Given the description of an element on the screen output the (x, y) to click on. 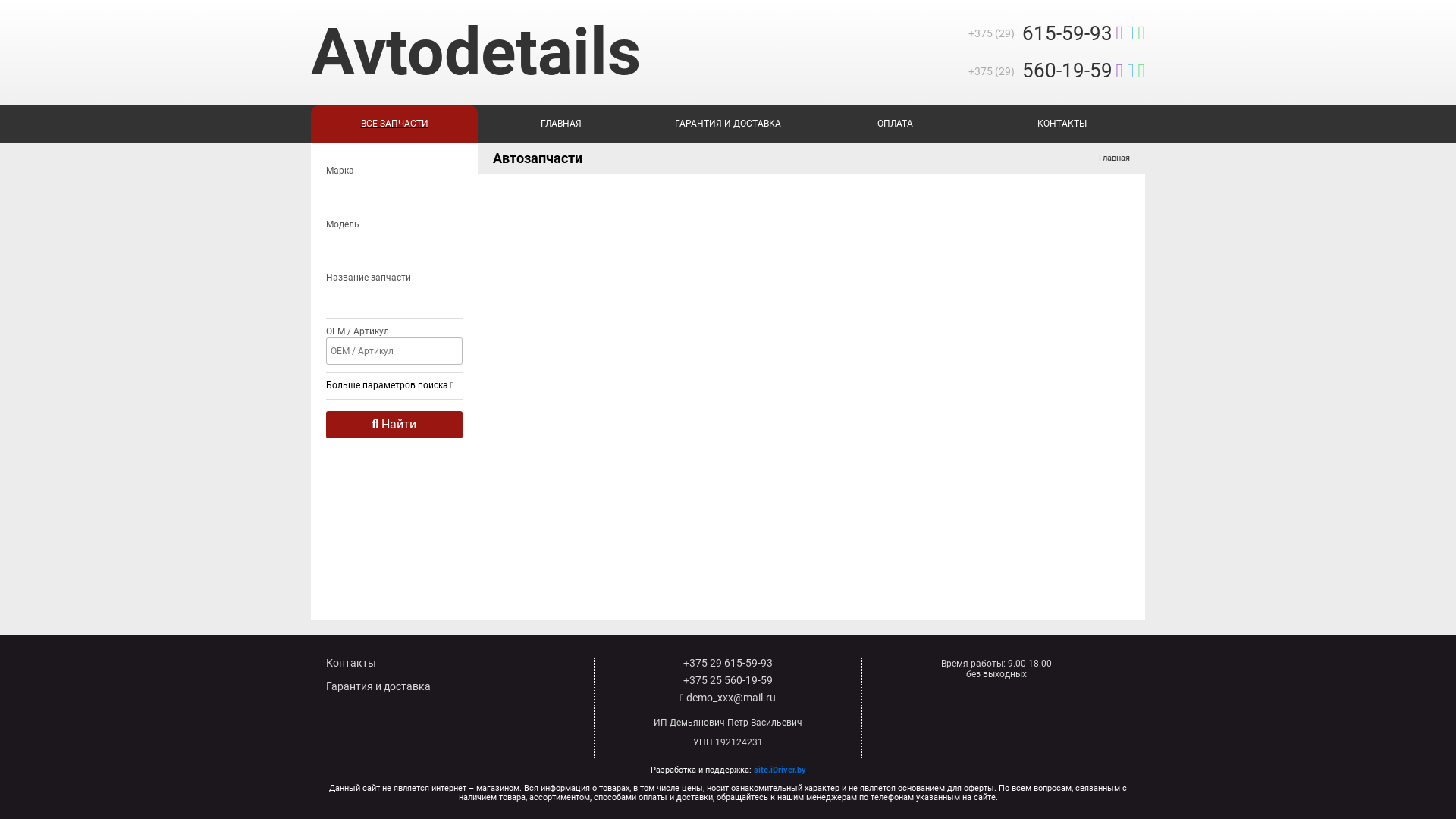
+375 (29)
560-19-59 Element type: text (1056, 71)
+375 29 615-59-93 Element type: text (727, 662)
+375 (29)
615-59-93 Element type: text (1056, 34)
+375 25 560-19-59 Element type: text (727, 680)
site.iDriver.by Element type: text (779, 770)
 demo_xxx@mail.ru Element type: text (727, 697)
Avtodetails Element type: text (475, 51)
